Given the description of an element on the screen output the (x, y) to click on. 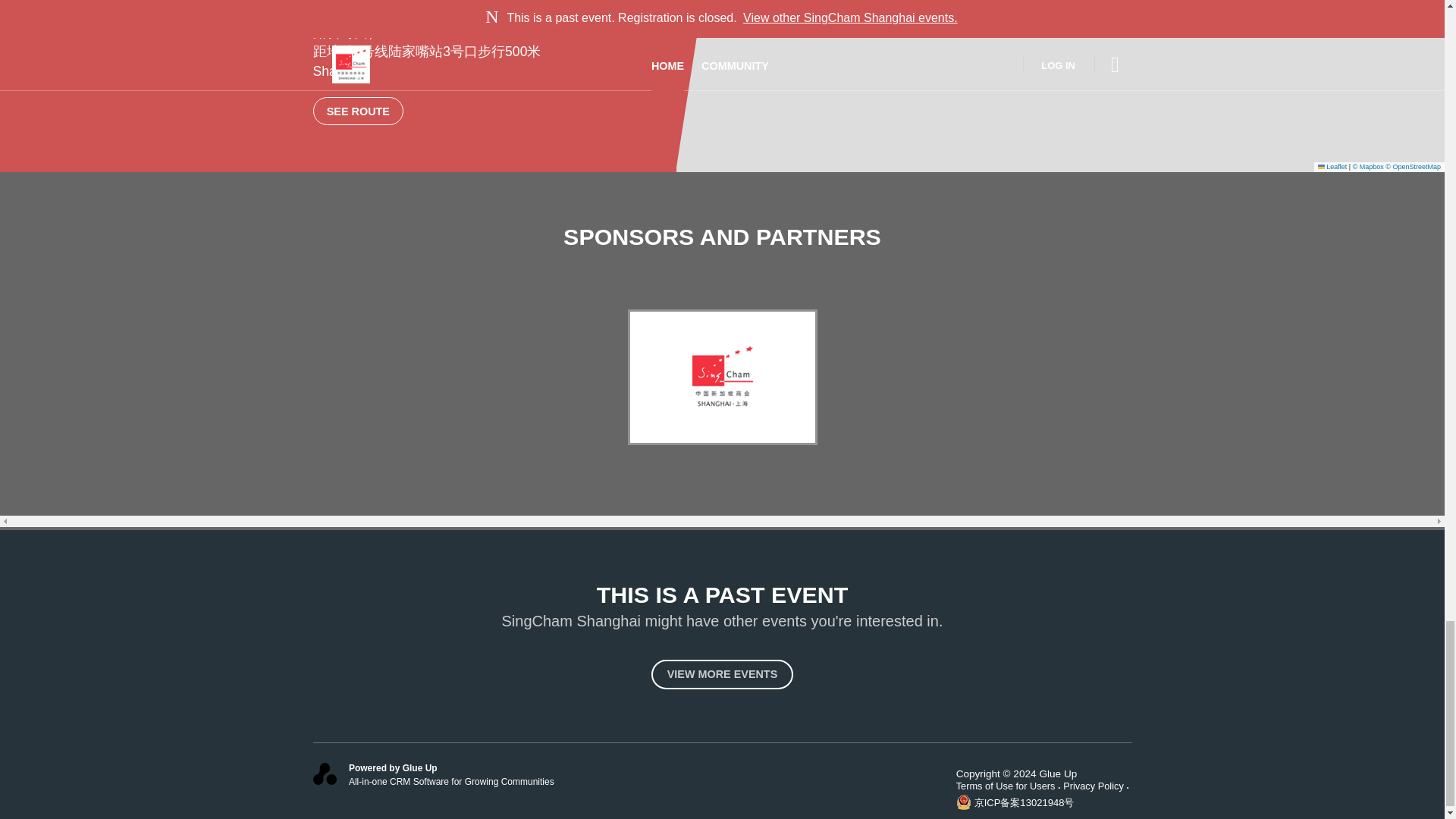
SEE ROUTE (358, 111)
VIEW MORE EVENTS (721, 674)
Terms of Use for Users (1010, 785)
Leaflet (1332, 166)
A JavaScript library for interactive maps (1332, 166)
Privacy Policy (1096, 785)
